Given the description of an element on the screen output the (x, y) to click on. 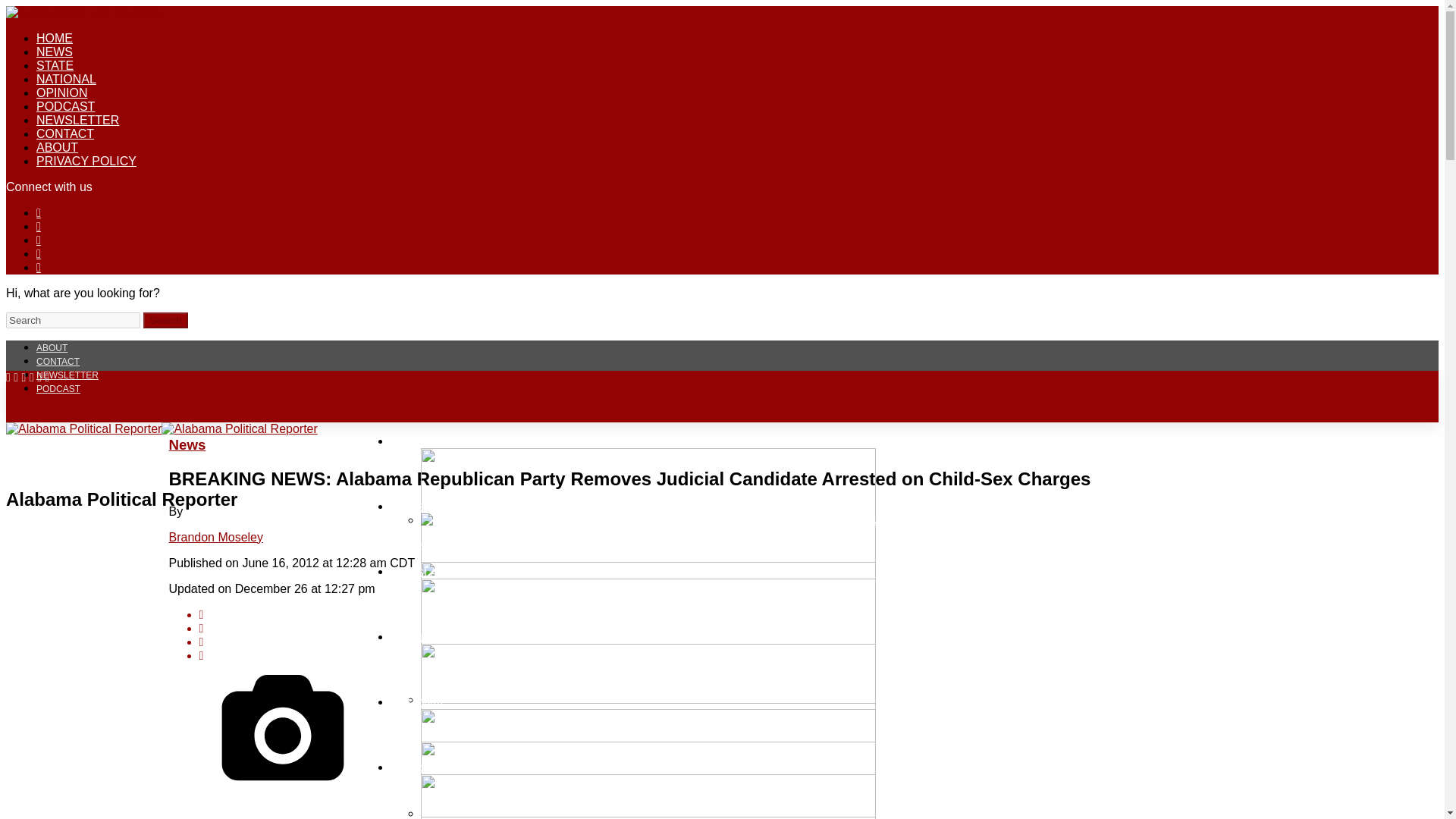
OPINION (61, 92)
PRIVACY POLICY (86, 160)
NEWS (54, 51)
Search (164, 320)
Tweet This Post (736, 628)
PODCAST (58, 388)
Share on Facebook (736, 614)
NEWSLETTER (67, 375)
HOME (54, 38)
ABOUT (51, 347)
ELECTIONS (422, 440)
Search (72, 320)
CONTACT (65, 133)
YES, KAMALA HARRIS CAN BE ON THE BALLOT IN ALABAMA (705, 780)
CONTACT (58, 361)
